Given the description of an element on the screen output the (x, y) to click on. 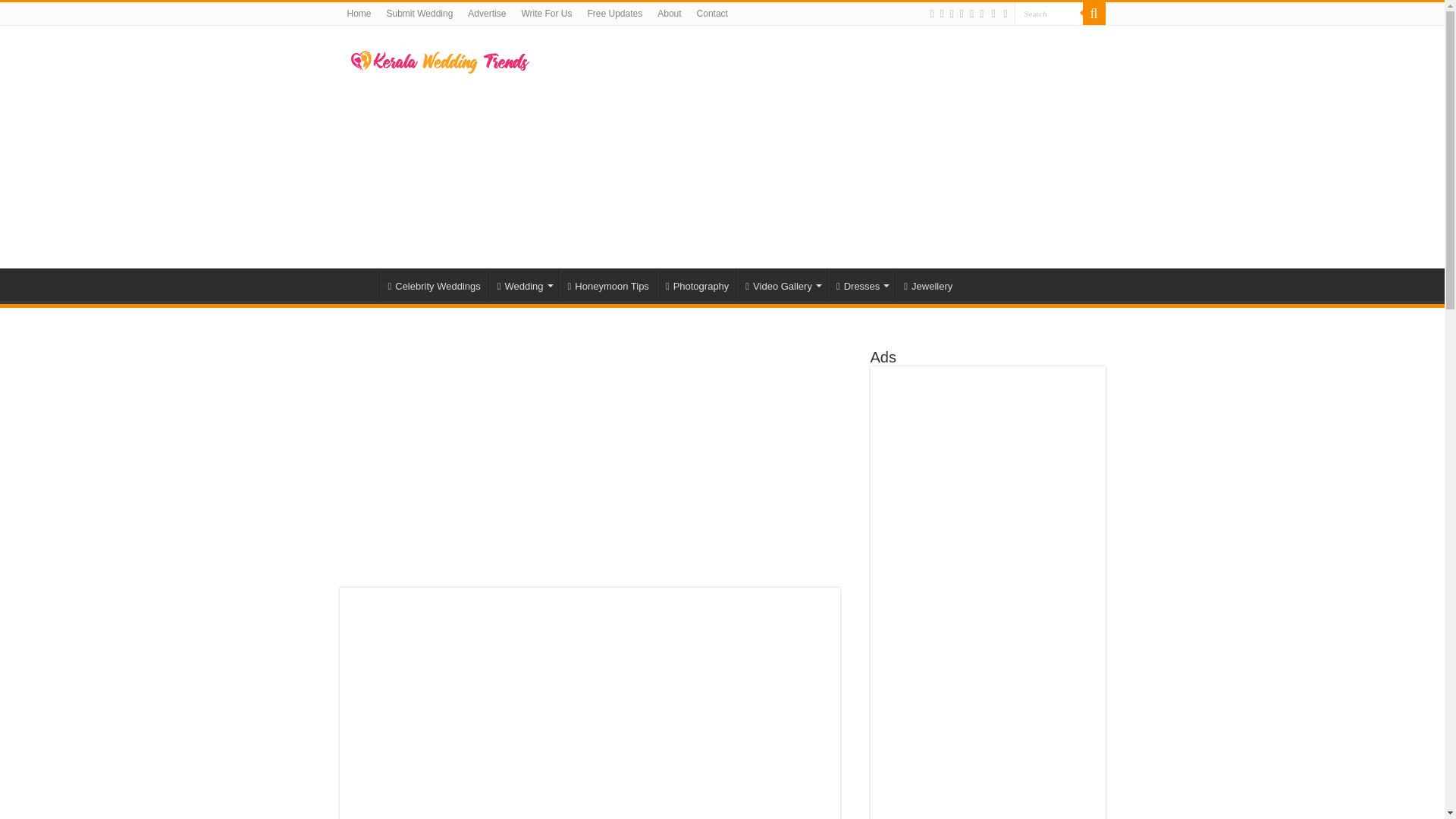
Wedding (524, 284)
Home (358, 284)
Honeymoon Tips (607, 284)
Search (1048, 13)
Submit Wedding (419, 13)
Free Updates (614, 13)
Advertise (486, 13)
Video Gallery (781, 284)
About (668, 13)
Celebrity Weddings (432, 284)
